Given the description of an element on the screen output the (x, y) to click on. 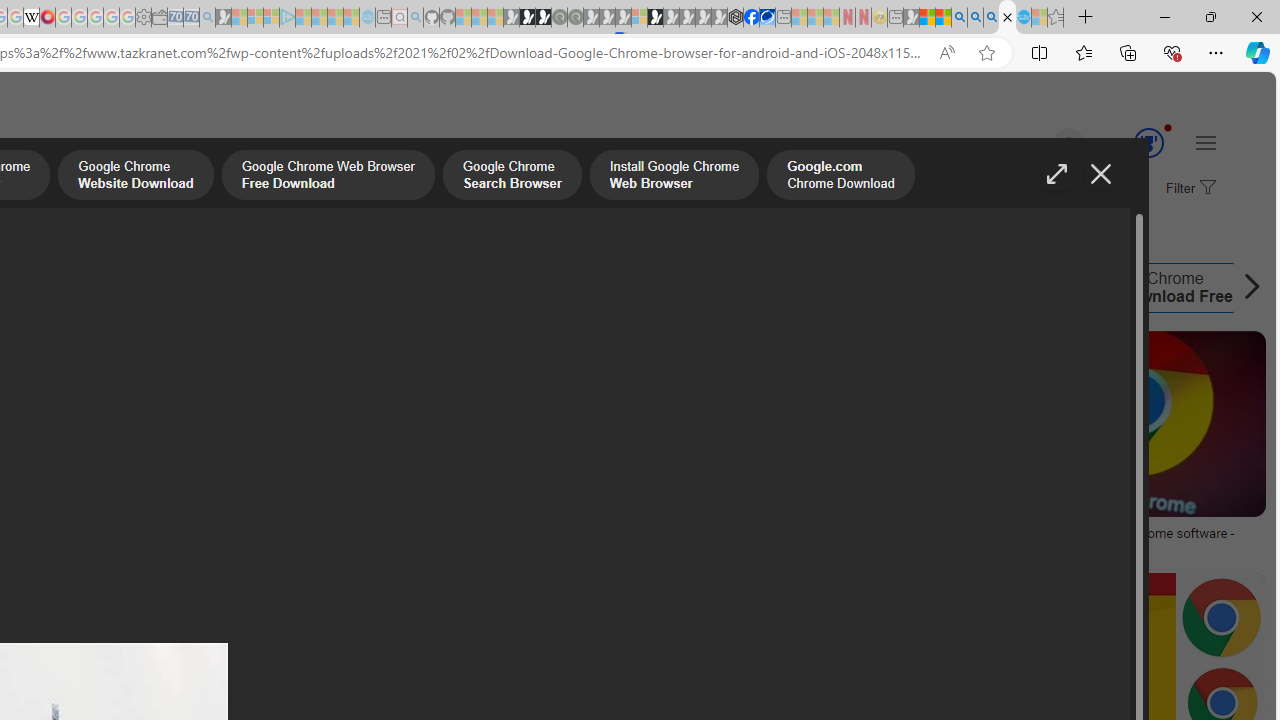
Nordace | Facebook (751, 17)
Google chrome web browser free download for Mac and Window (817, 541)
Google chrome web browser free download for Mac and Window (817, 541)
Google Chrome Fast Download (542, 287)
Future Focus Report 2024 - Sleeping (575, 17)
Internet Google Chrome (738, 287)
How to update google chrome software - angelbap (1128, 541)
Install Google Chrome Web Browser (673, 177)
